Given the description of an element on the screen output the (x, y) to click on. 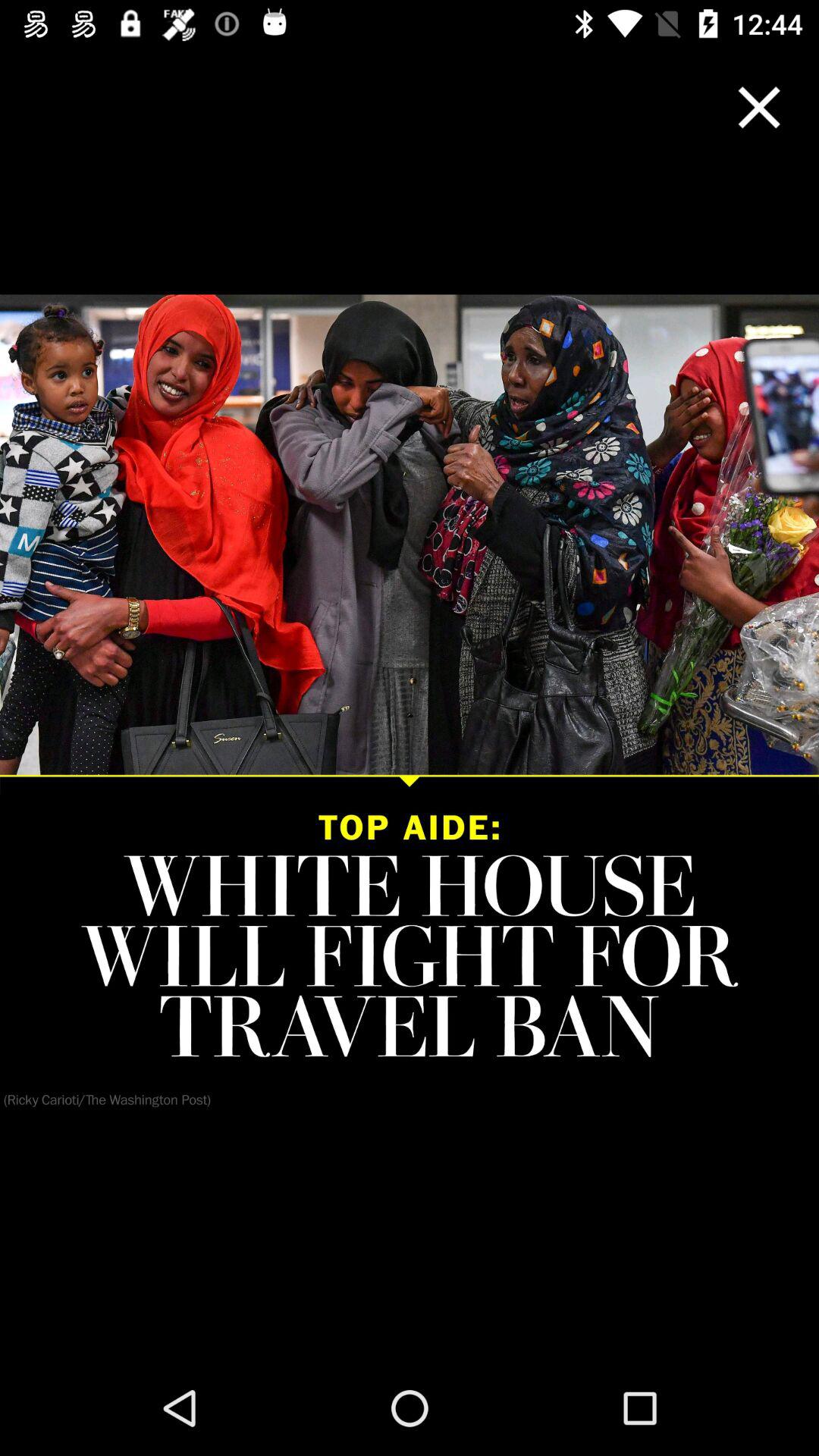
press icon at the center (409, 703)
